Given the description of an element on the screen output the (x, y) to click on. 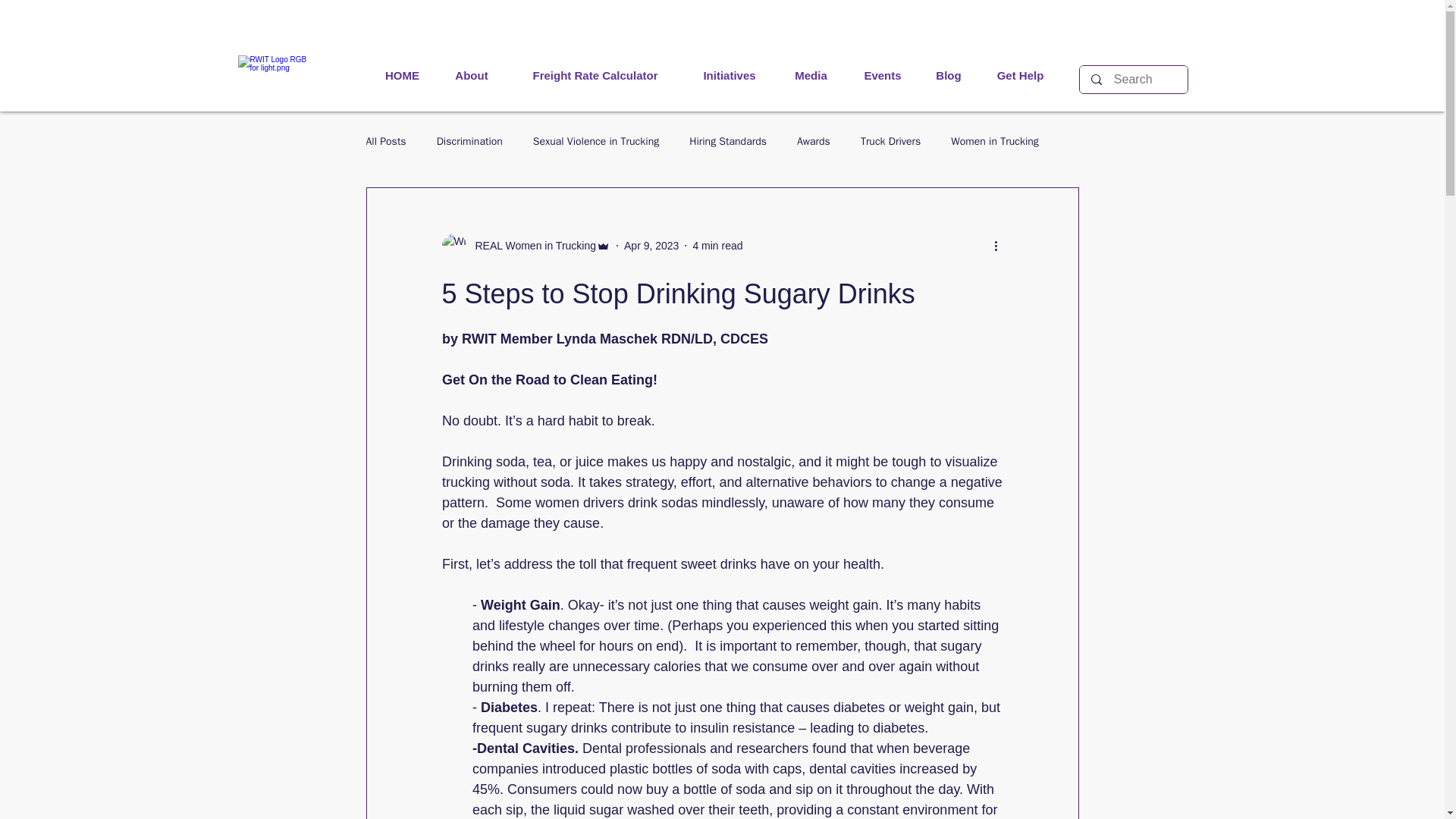
Initiatives (728, 75)
Freight Rate Calculator (594, 75)
Get Help (1020, 75)
About (470, 75)
Sexual Violence in Trucking (595, 141)
Apr 9, 2023 (651, 245)
Discrimination (469, 141)
Women in Trucking (994, 141)
REAL Women in Trucking (525, 245)
All Posts (385, 141)
